Given the description of an element on the screen output the (x, y) to click on. 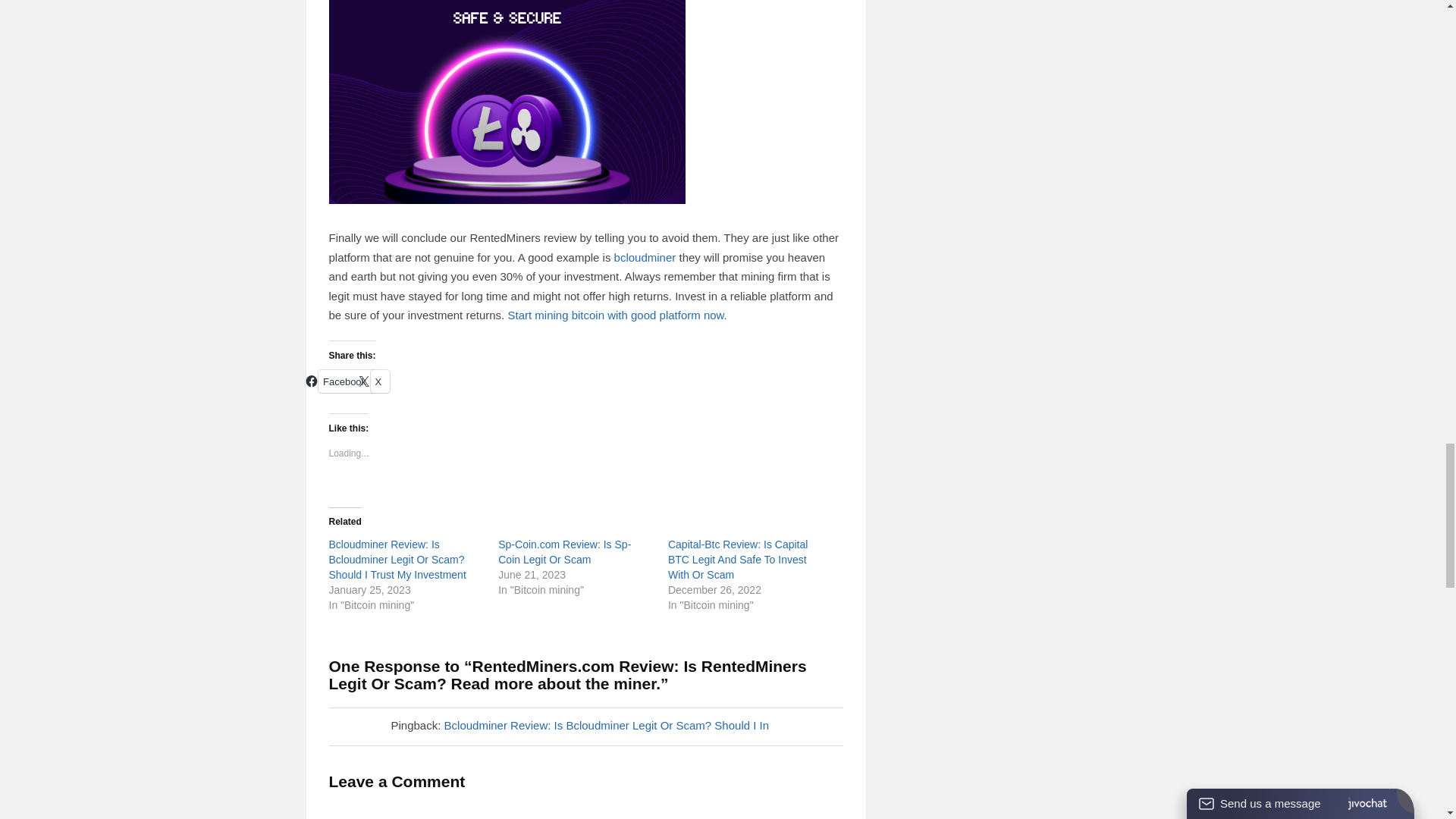
Sp-Coin.com Review: Is Sp-Coin Legit Or Scam (563, 551)
Sp-Coin.com Review: Is Sp-Coin Legit Or Scam (563, 551)
bcloudminer (645, 256)
Facebook (346, 381)
Click to share on Facebook (346, 381)
Start mining bitcoin with good platform now. (616, 314)
